Given the description of an element on the screen output the (x, y) to click on. 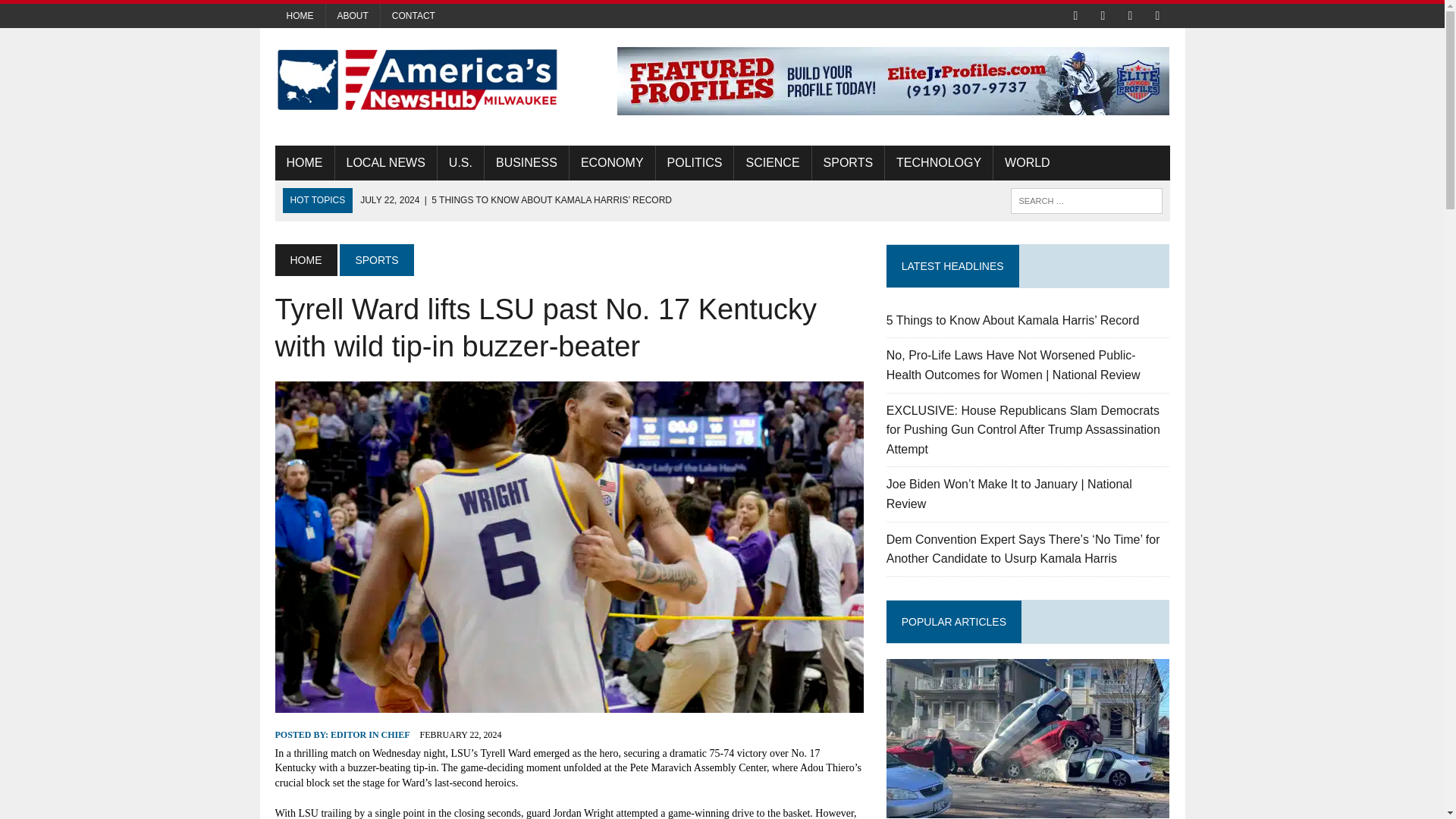
HOME (305, 260)
SCIENCE (771, 162)
BUSINESS (526, 162)
Milwaukee NewsHub (416, 80)
ABOUT (353, 15)
POLITICS (694, 162)
U.S. (460, 162)
SPORTS (376, 260)
CONTACT (413, 15)
HOME (304, 162)
EDITOR IN CHIEF (369, 734)
WORLD (1026, 162)
